Given the description of an element on the screen output the (x, y) to click on. 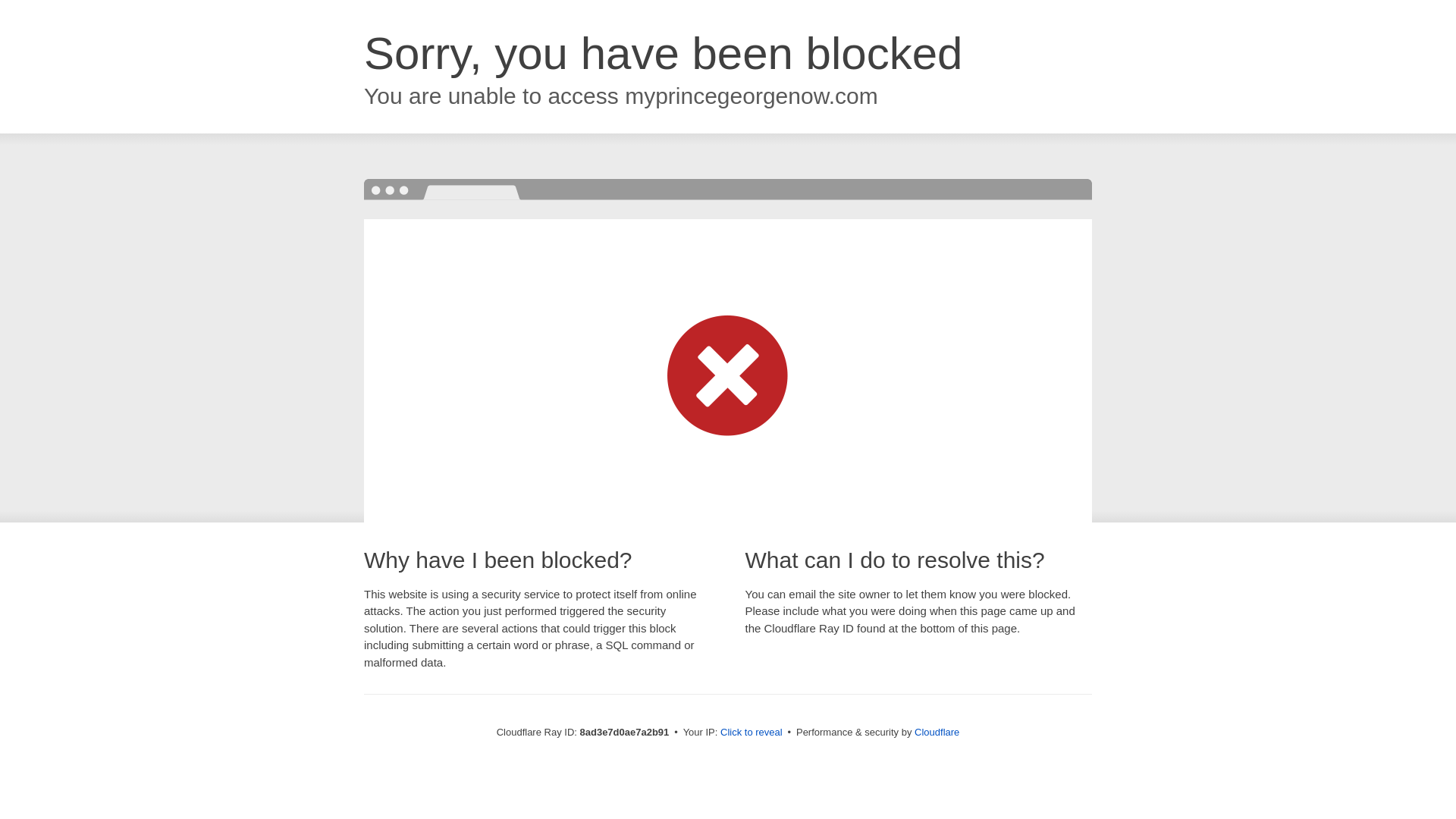
Click to reveal (751, 732)
Cloudflare (936, 731)
